Given the description of an element on the screen output the (x, y) to click on. 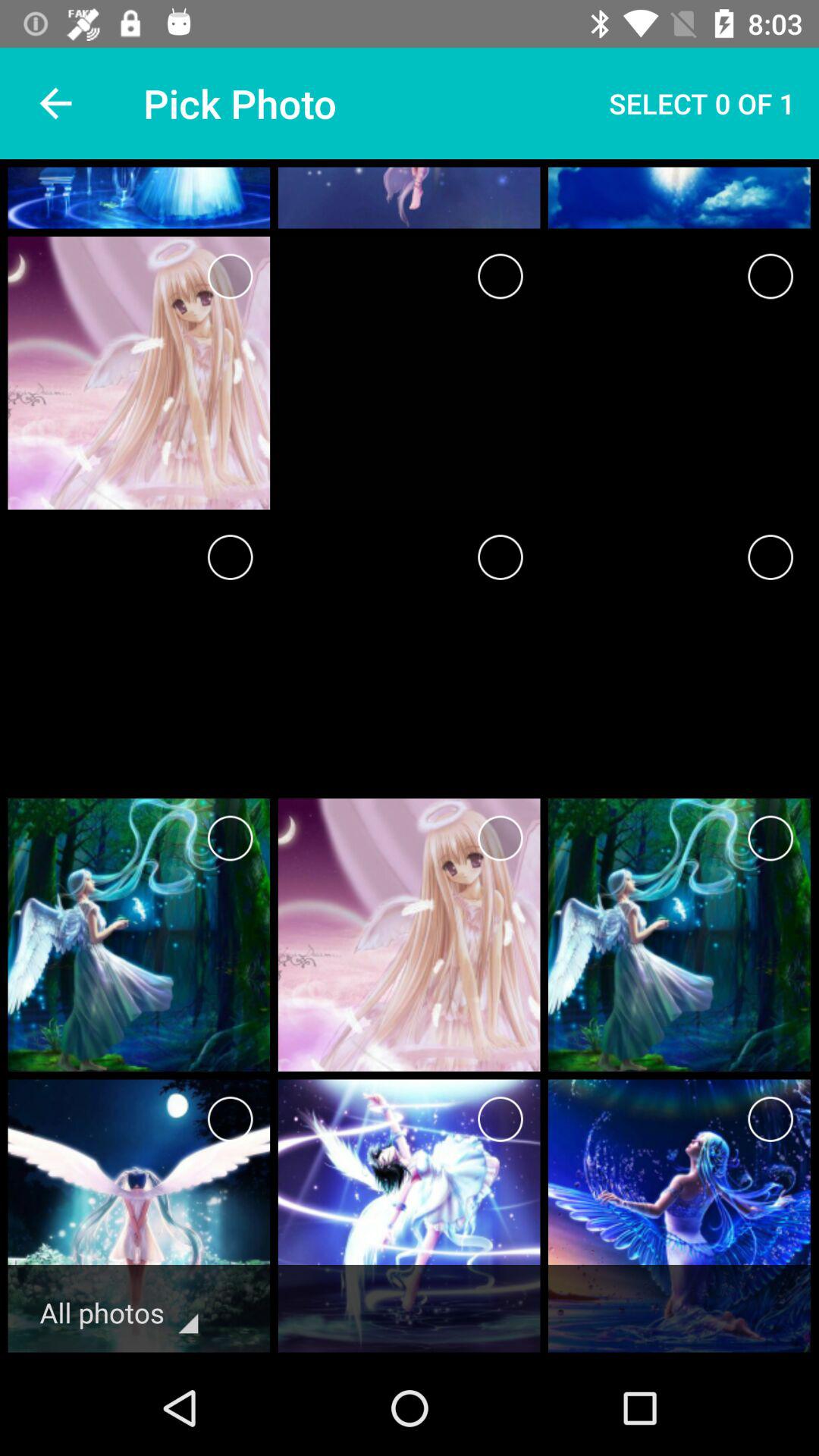
select page (230, 557)
